Given the description of an element on the screen output the (x, y) to click on. 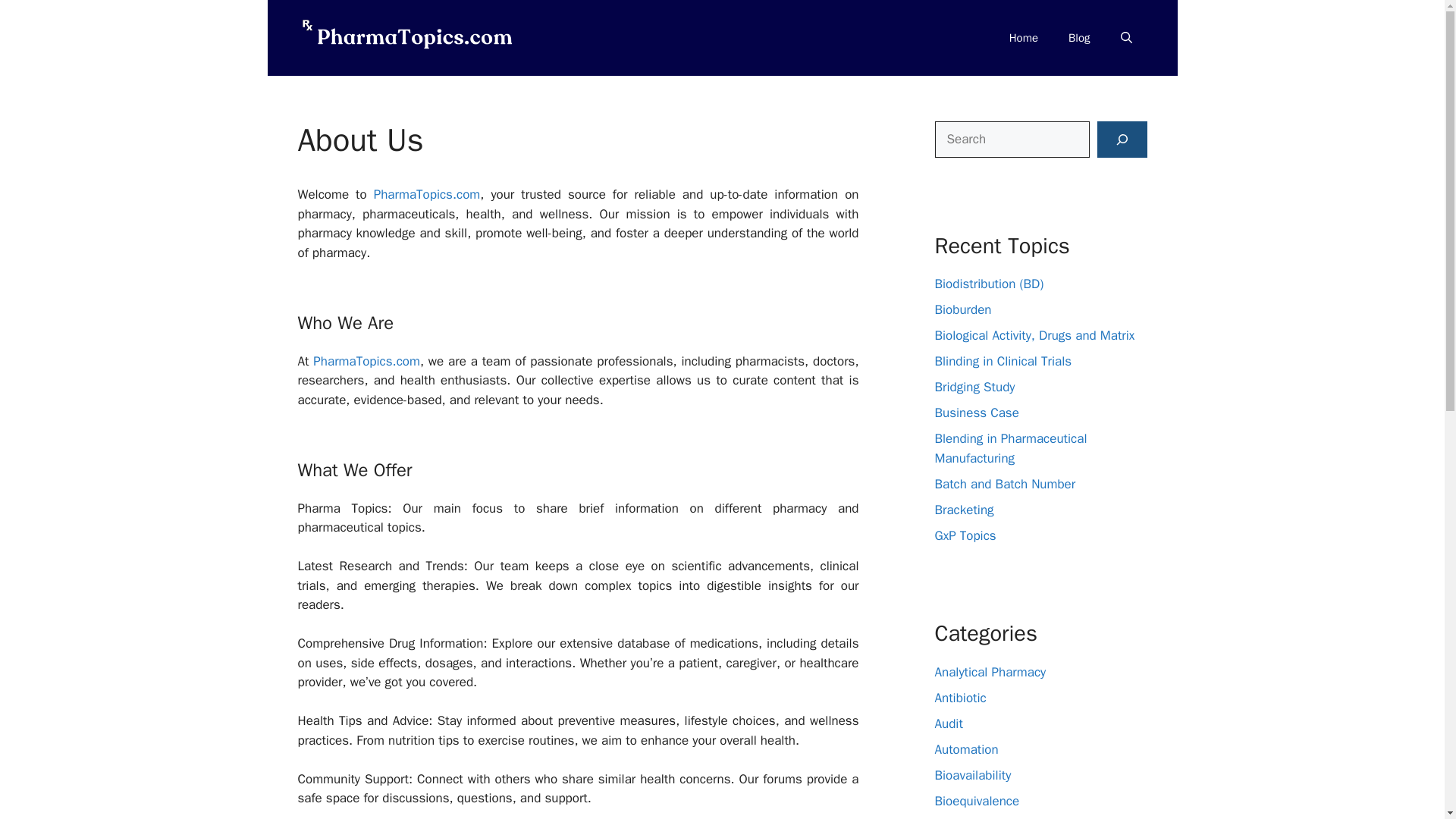
Analytical Pharmacy (989, 672)
Blinding in Clinical Trials (1002, 360)
Batch and Batch Number (1004, 483)
Bracketing (963, 509)
PharmaTopics.com (427, 194)
Blending in Pharmaceutical Manufacturing (1010, 448)
Home (1023, 37)
Bridging Study (974, 386)
Bioburden (962, 309)
Bioavailability (972, 774)
